Given the description of an element on the screen output the (x, y) to click on. 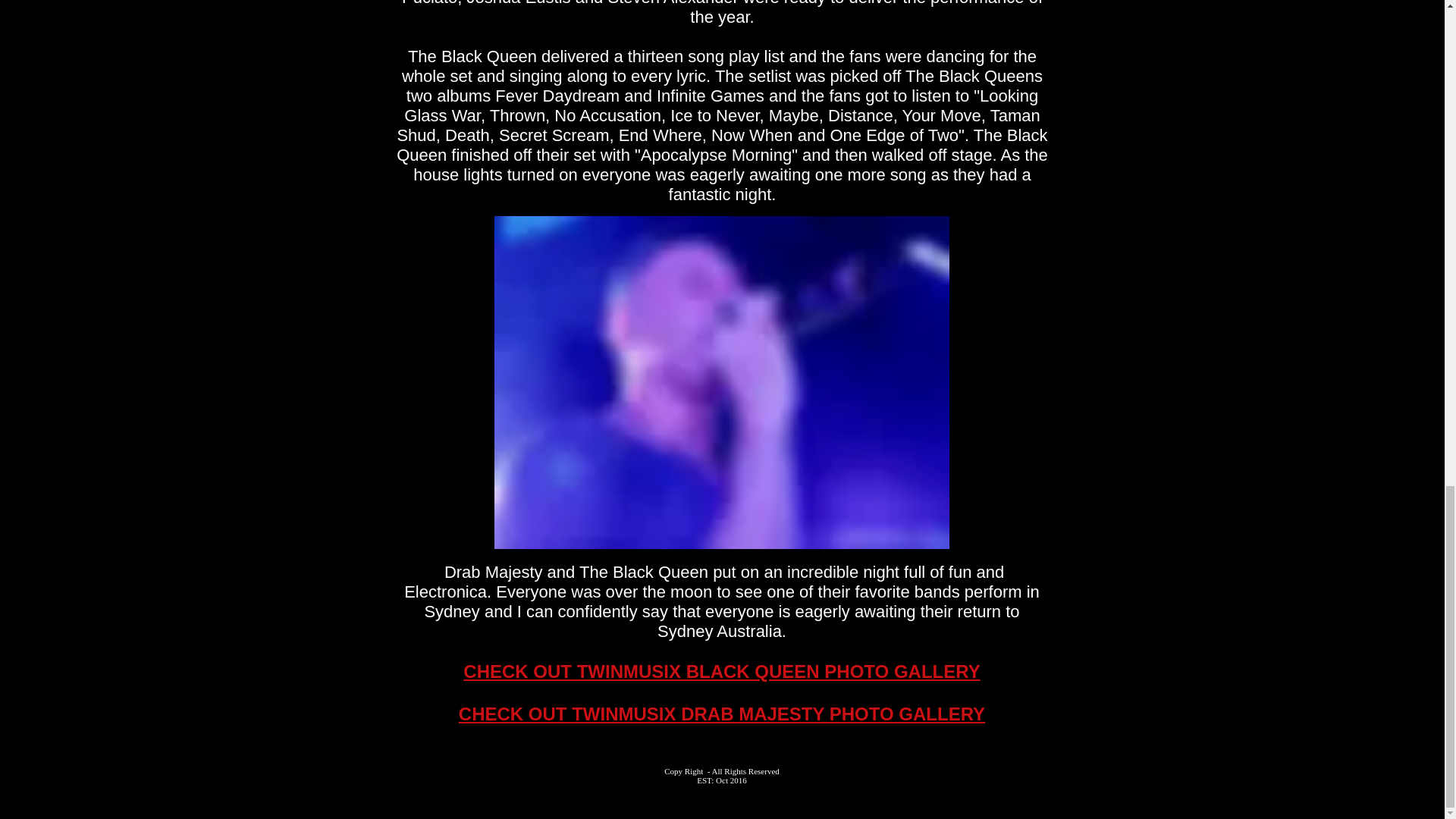
CHECK OUT TWINMUSIX DRAB MAJESTY PHOTO GALLERY (721, 713)
CHECK OUT TWINMUSIX BLACK QUEEN PHOTO GALLERY (721, 670)
